Given the description of an element on the screen output the (x, y) to click on. 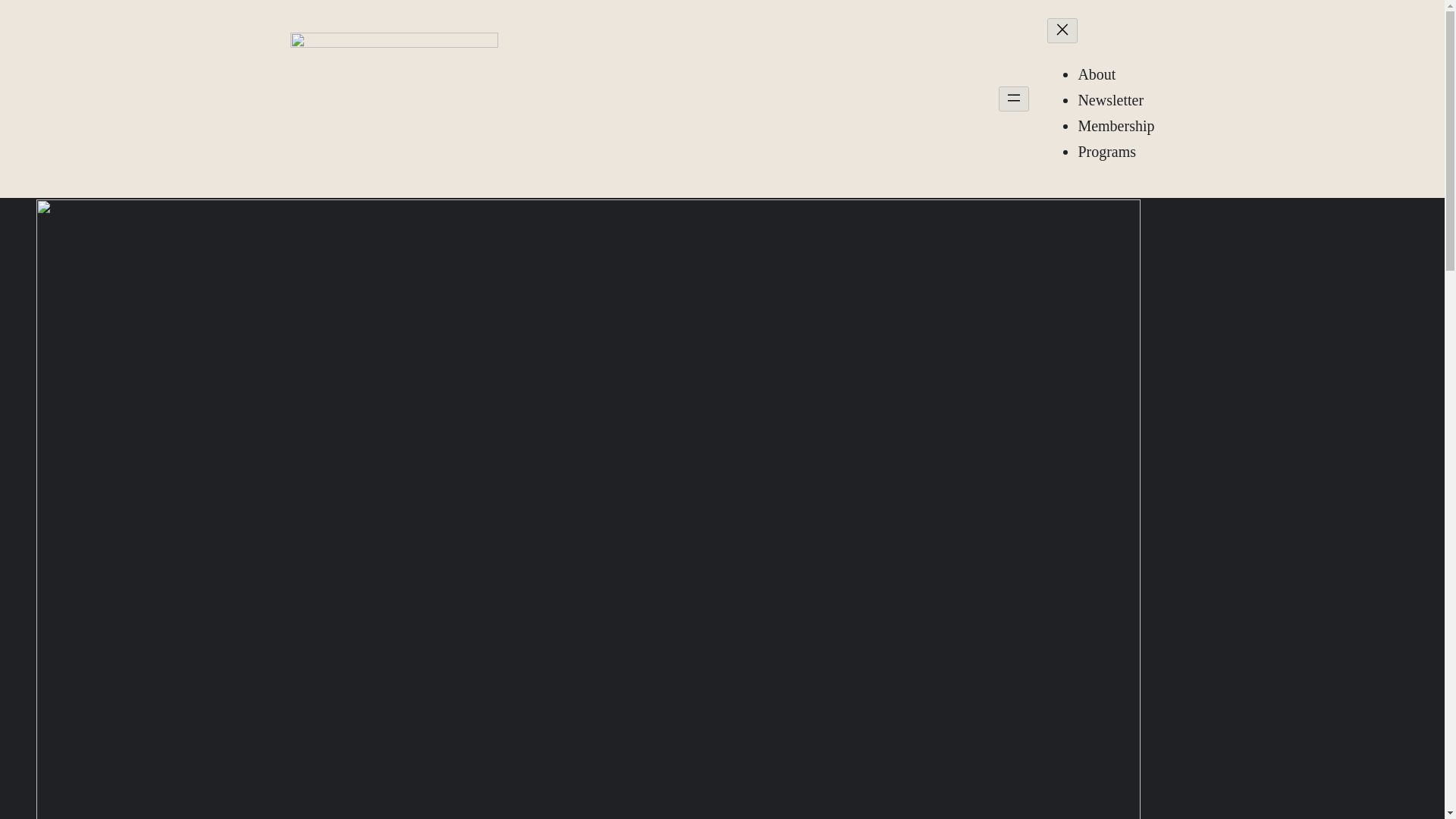
Membership (1115, 125)
Newsletter (1109, 99)
About (1096, 74)
Programs (1106, 151)
